Given the description of an element on the screen output the (x, y) to click on. 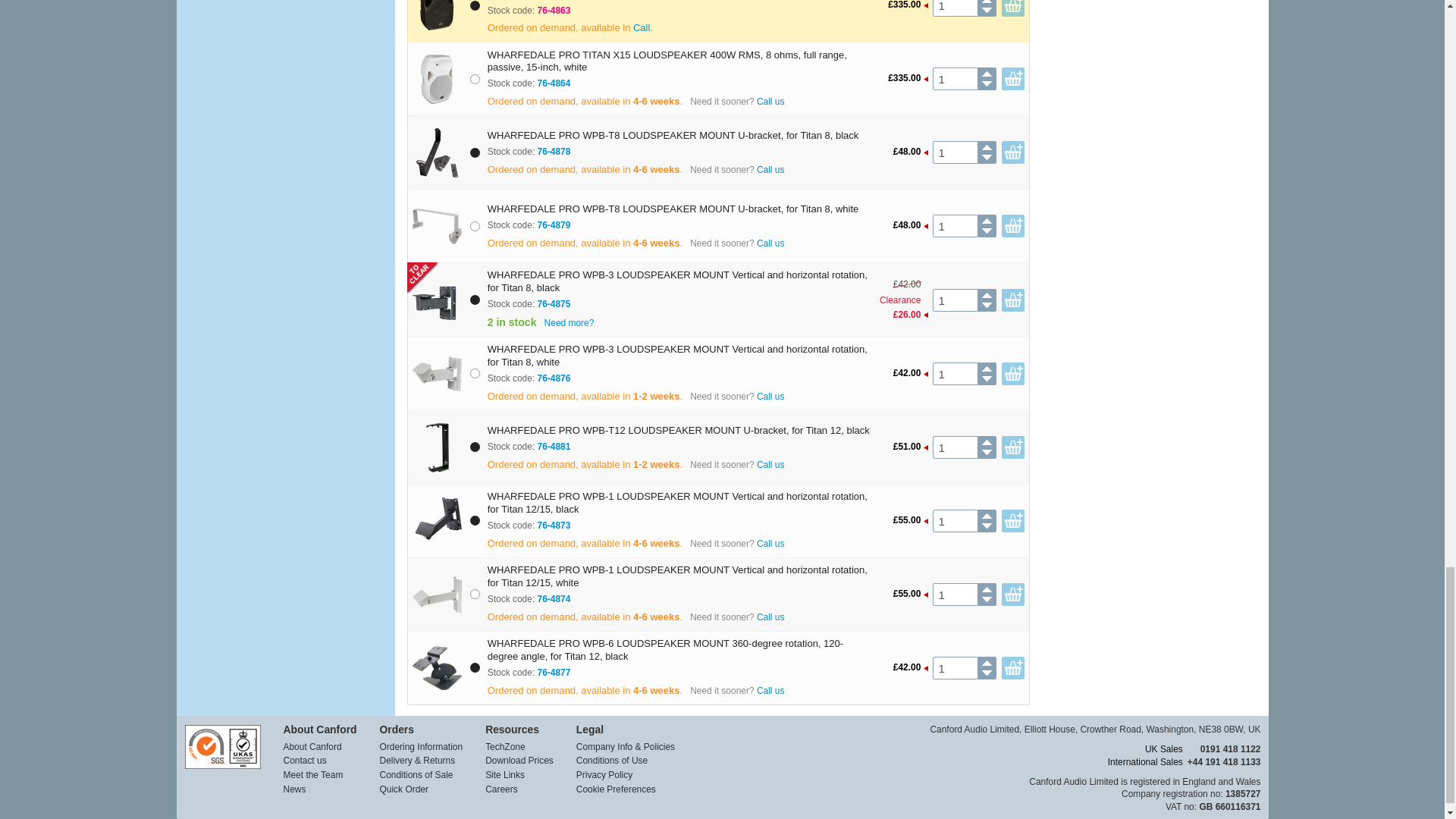
1 (954, 151)
1 (954, 8)
1 (954, 78)
